Given the description of an element on the screen output the (x, y) to click on. 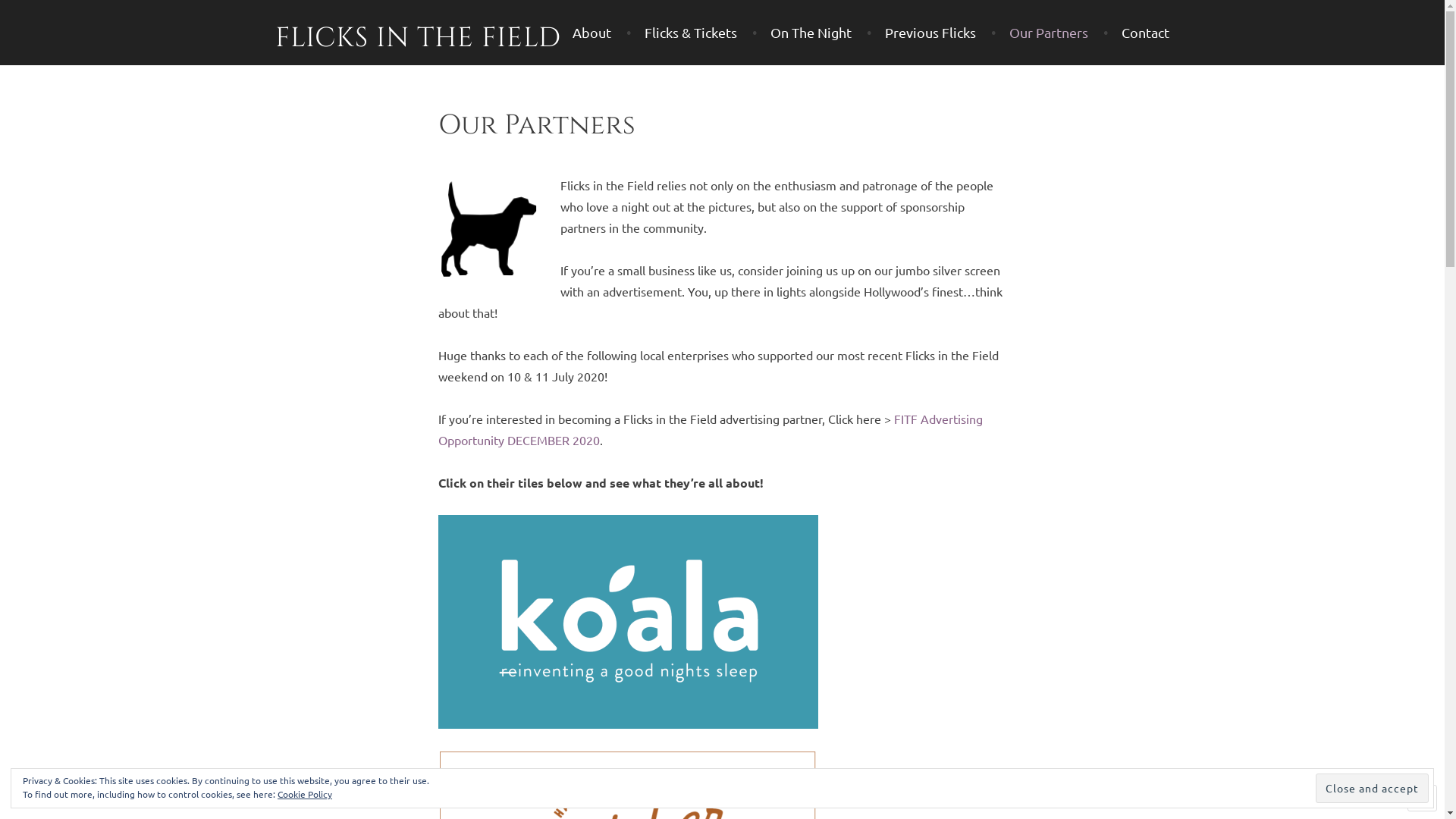
Contact Element type: text (1136, 32)
FLICKS IN THE FIELD Element type: text (417, 37)
FITF Advertising Opportunity DECEMBER 2020 Element type: text (710, 429)
Our Partners Element type: text (1039, 32)
Cookie Policy Element type: text (304, 793)
On The Night Element type: text (801, 32)
Flicks & Tickets Element type: text (681, 32)
Previous Flicks Element type: text (920, 32)
Close and accept Element type: text (1371, 788)
About Element type: text (591, 32)
